Given the description of an element on the screen output the (x, y) to click on. 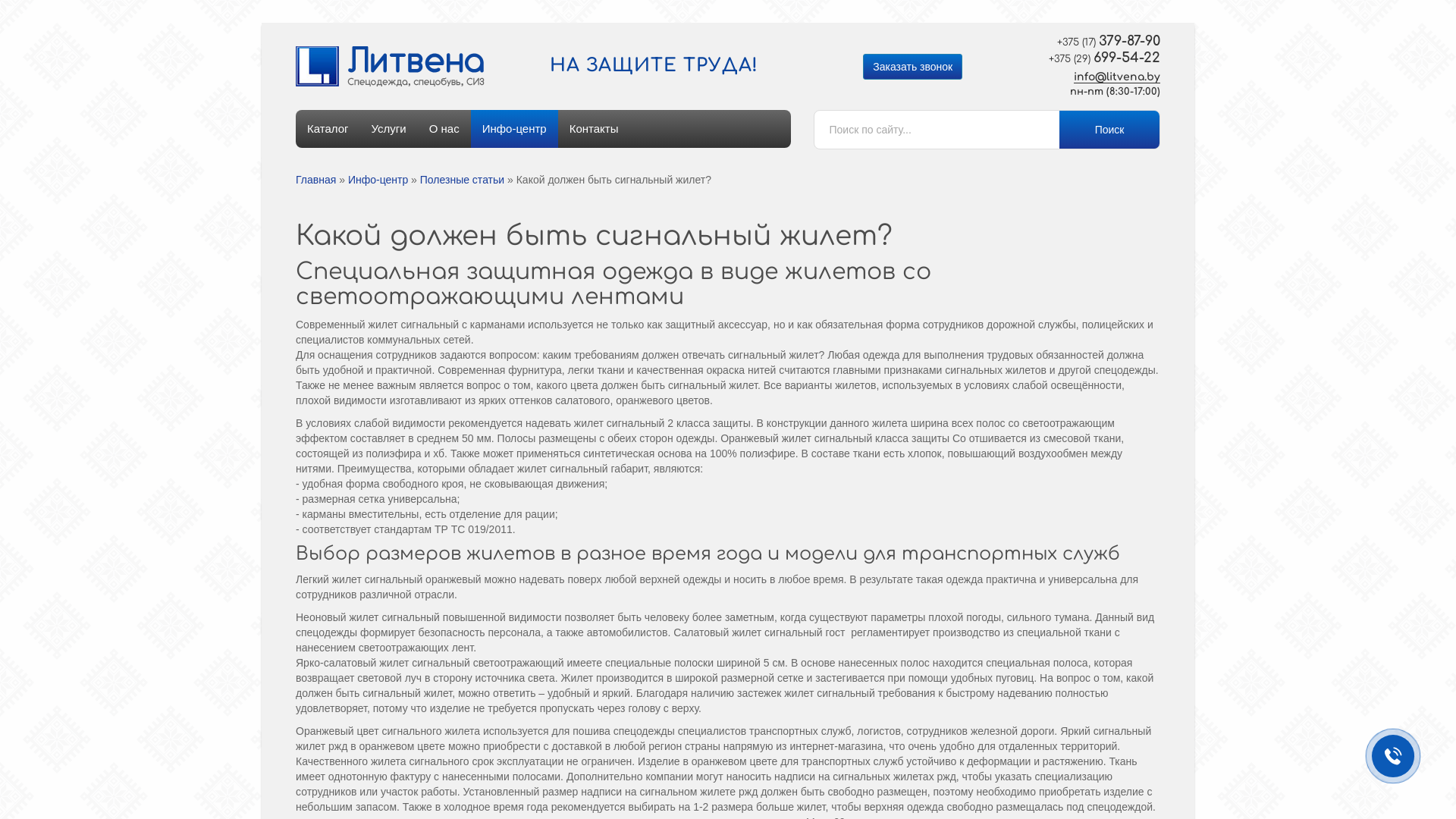
+375 (29) 699-54-22 Element type: text (1097, 57)
+375 (17) 379-87-90 Element type: text (1097, 41)
info@litvena.by Element type: text (1116, 77)
